Given the description of an element on the screen output the (x, y) to click on. 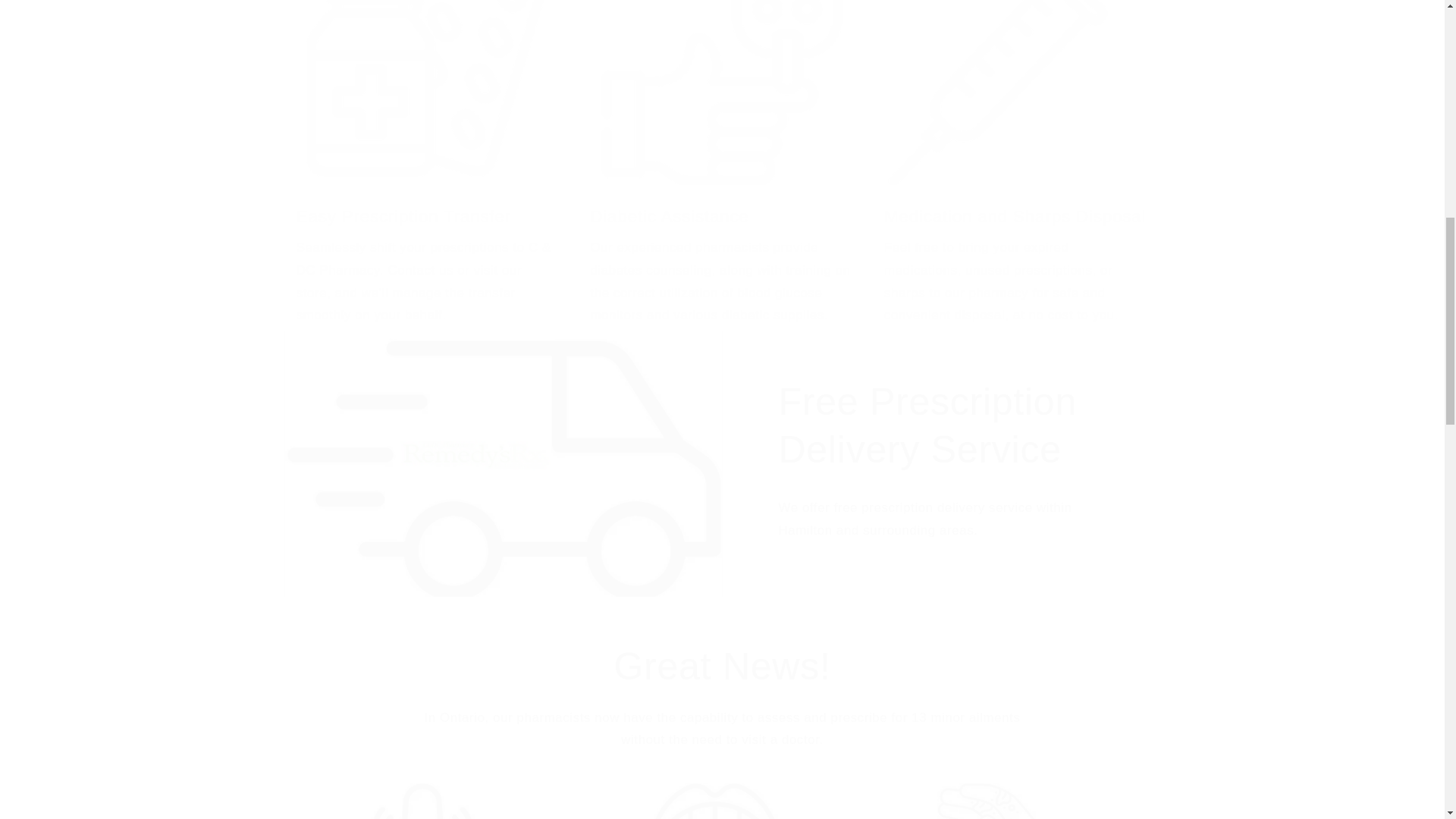
Great News! (722, 666)
